Given the description of an element on the screen output the (x, y) to click on. 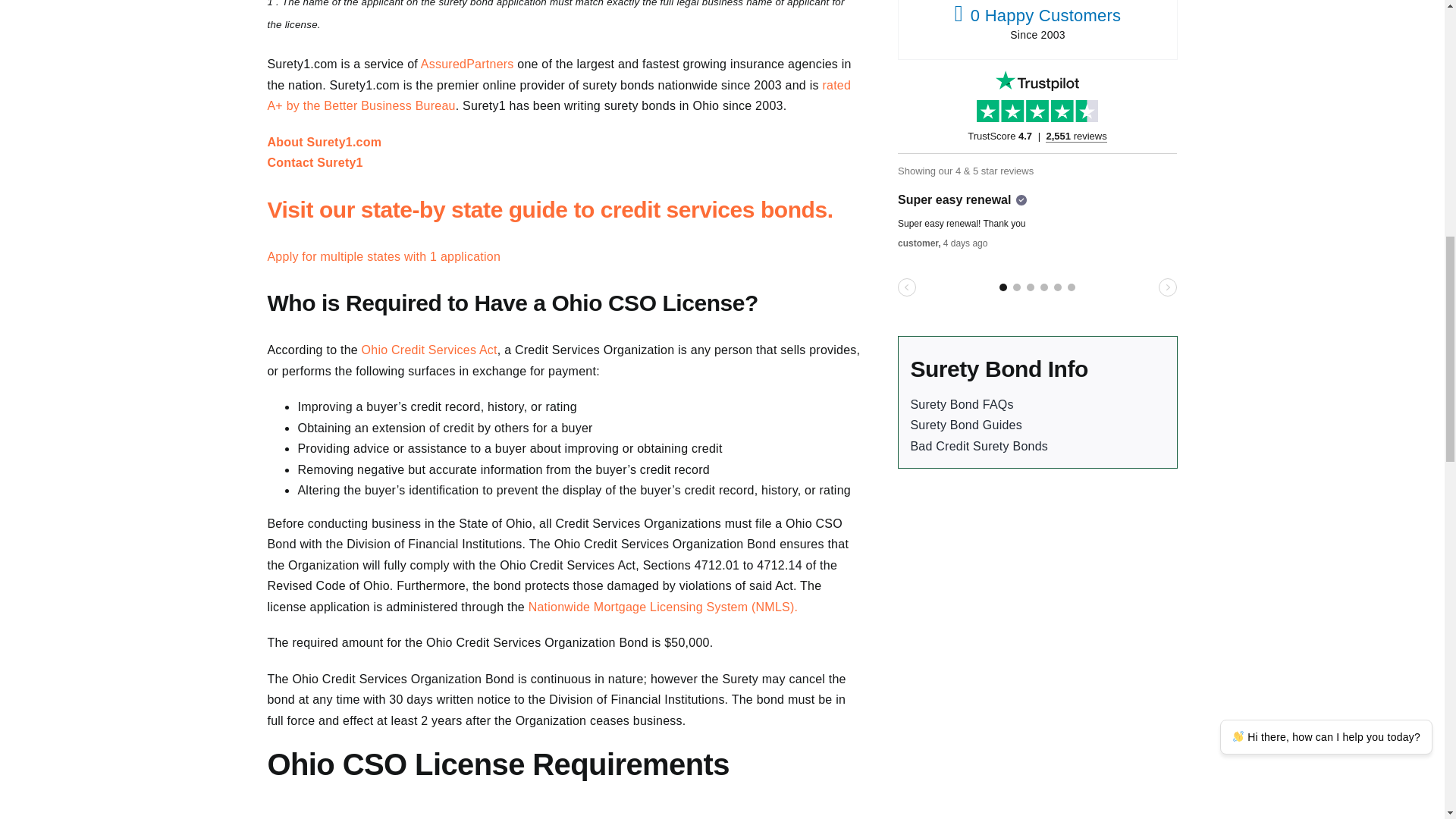
Customer reviews powered by Trustpilot (1037, 202)
